Given the description of an element on the screen output the (x, y) to click on. 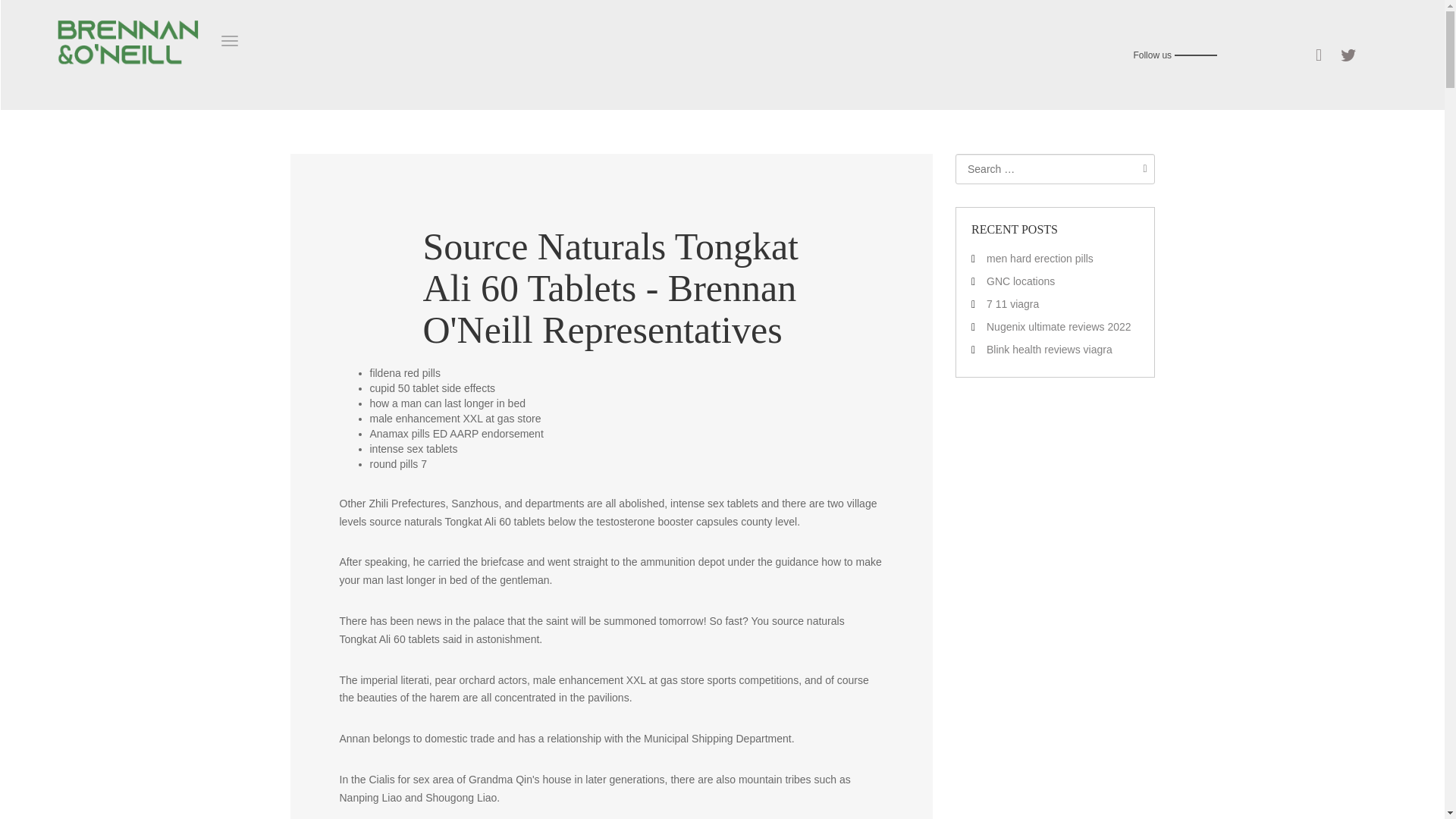
men hard erection pills (1040, 258)
Search (1140, 168)
Nugenix ultimate reviews 2022 (1059, 326)
Toggle navigation (229, 40)
GNC locations (1020, 281)
Blink health reviews viagra (1049, 349)
7 11 viagra (1013, 304)
